Given the description of an element on the screen output the (x, y) to click on. 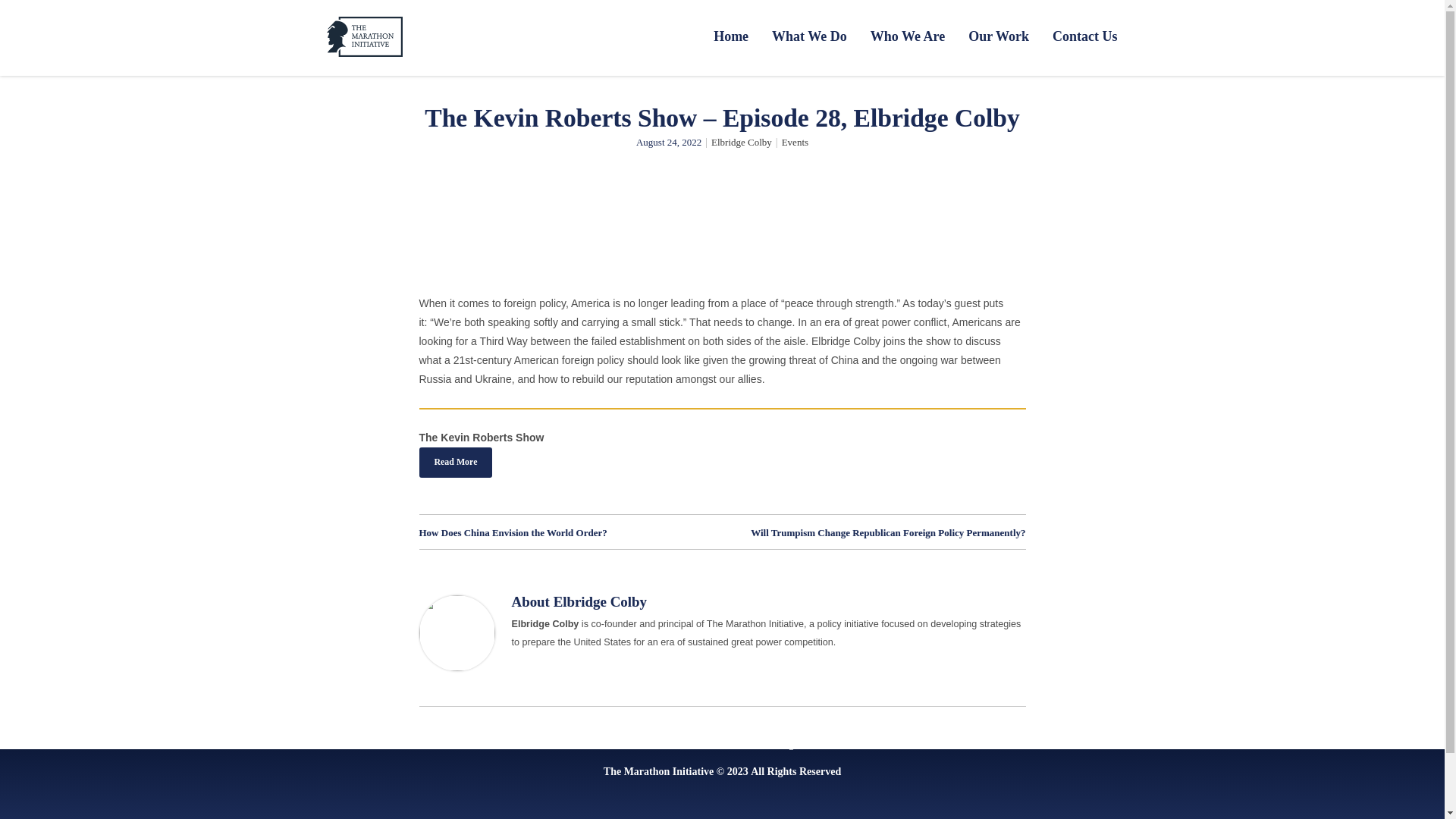
Events (794, 142)
Our Work (998, 36)
Elbridge Colby (599, 601)
Who We Are (907, 36)
Contact Us (1079, 36)
Posts by Elbridge Colby (741, 142)
Elbridge Colby (741, 142)
What We Do (809, 36)
Read More (455, 462)
Posts by Elbridge Colby (599, 601)
